Given the description of an element on the screen output the (x, y) to click on. 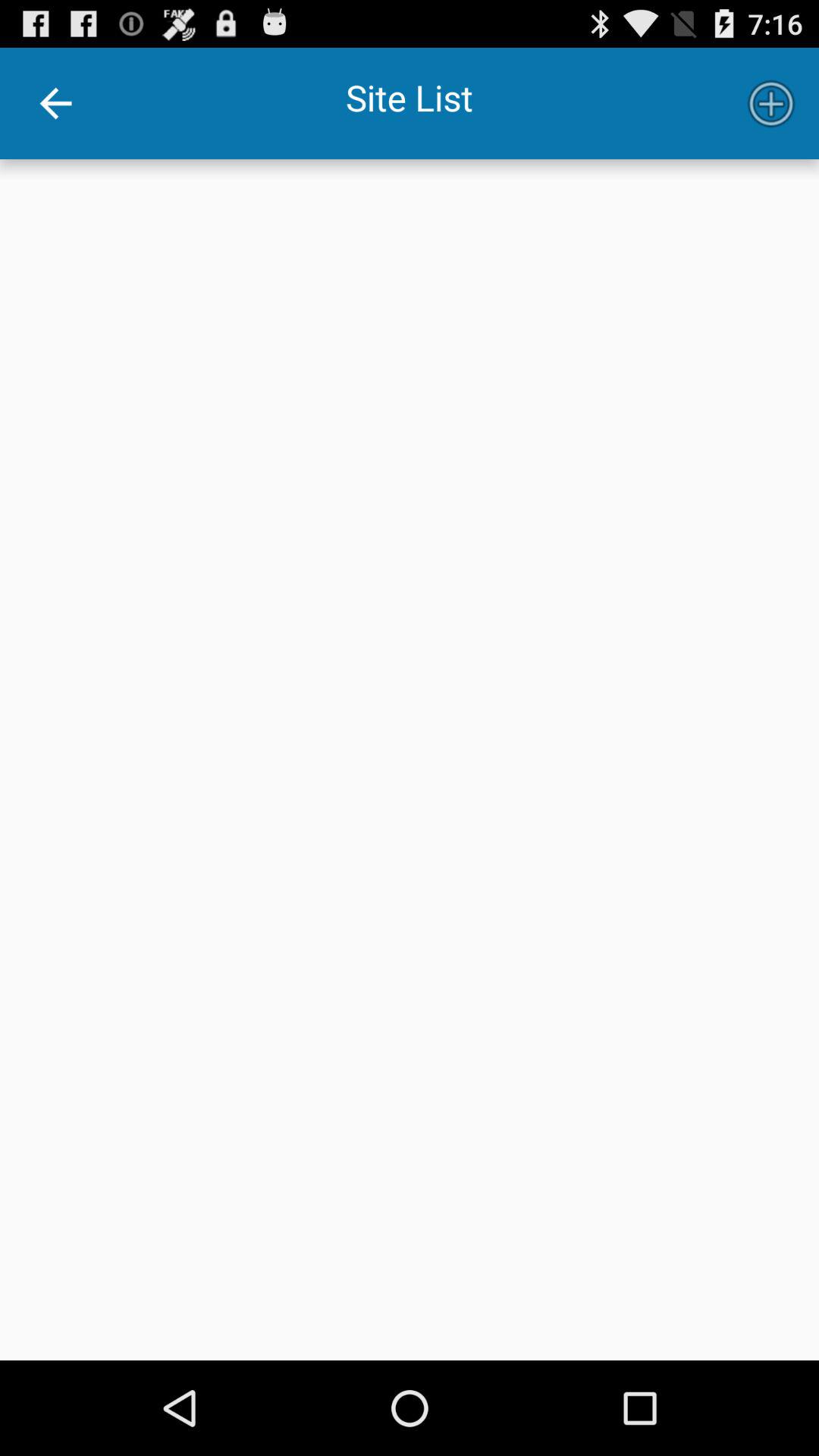
open the item to the left of site list icon (55, 103)
